Given the description of an element on the screen output the (x, y) to click on. 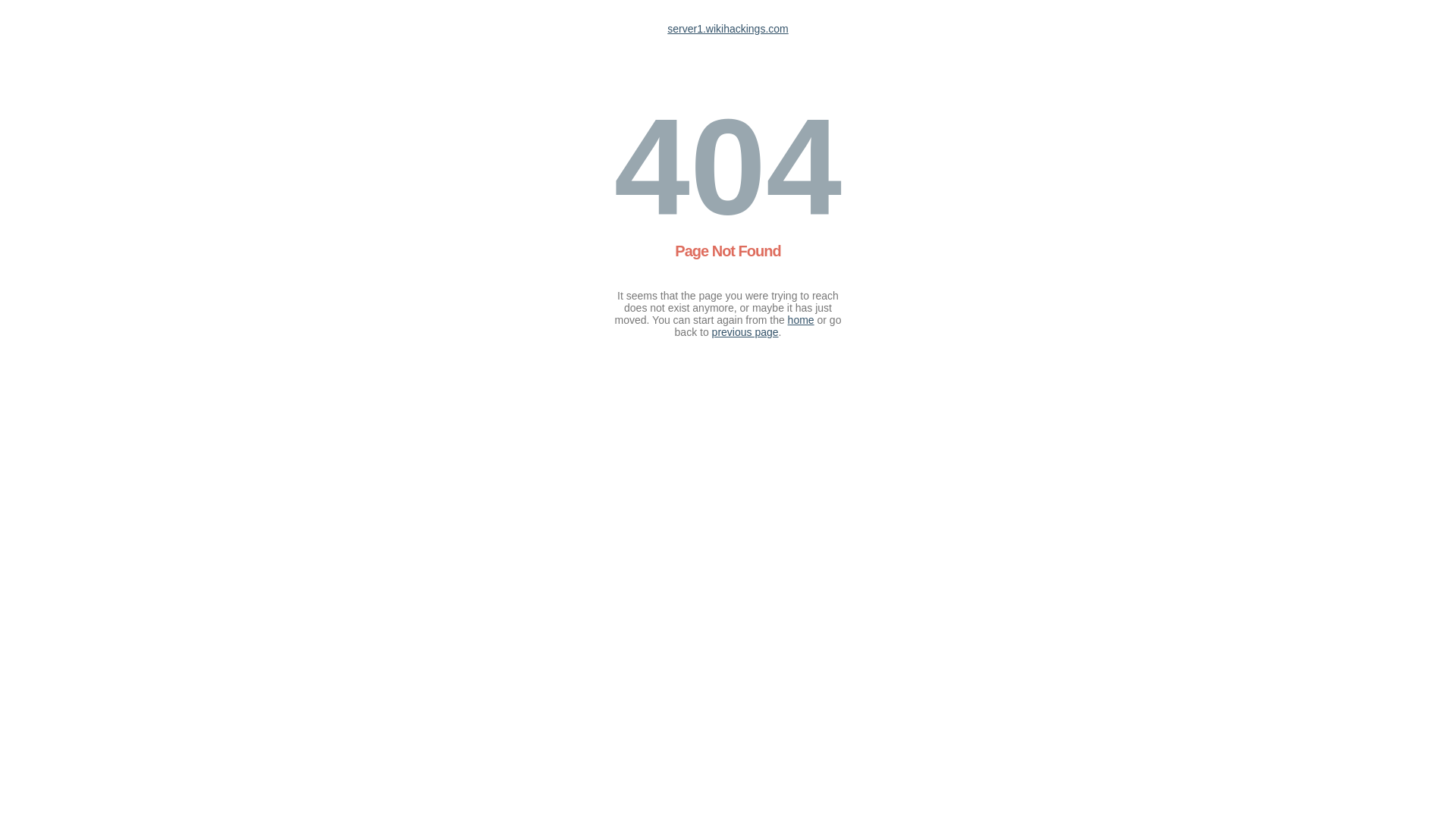
previous page Element type: text (745, 332)
server1.wikihackings.com Element type: text (727, 28)
home Element type: text (800, 319)
